Given the description of an element on the screen output the (x, y) to click on. 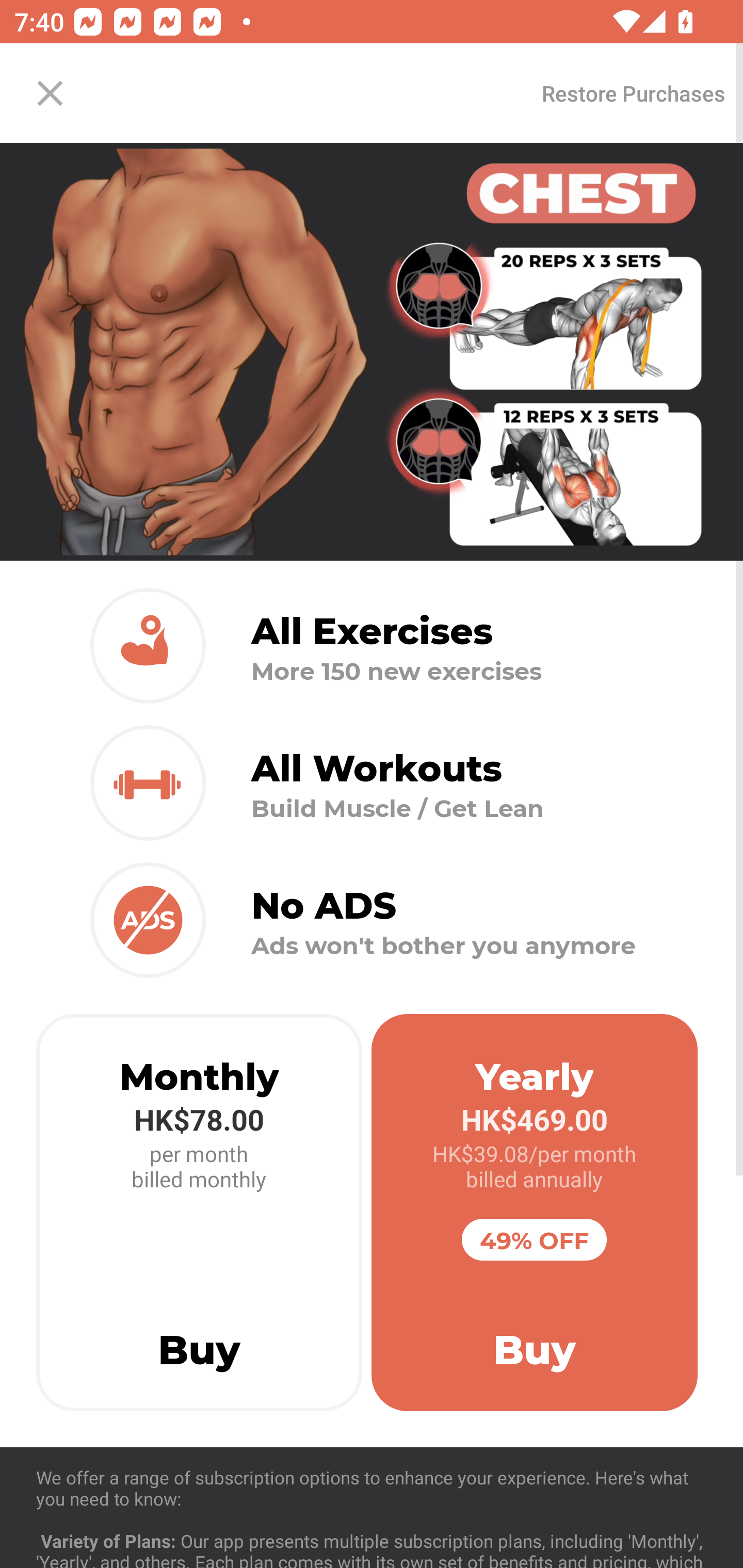
Restore Purchases (632, 92)
Monthly HK$78.00 per month
billed monthly Buy (199, 1212)
